Given the description of an element on the screen output the (x, y) to click on. 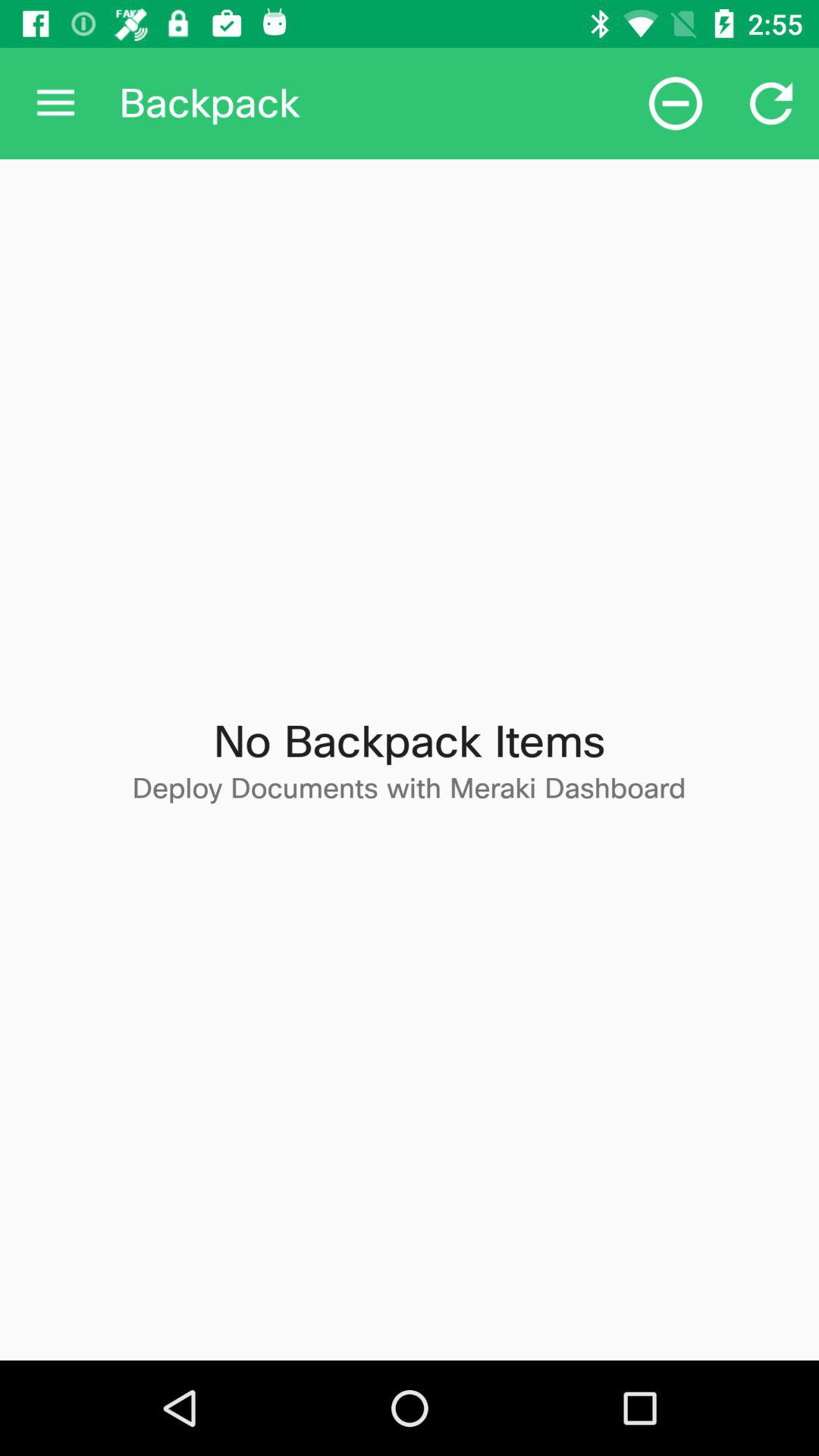
tap the icon to the right of the backpack icon (675, 103)
